Given the description of an element on the screen output the (x, y) to click on. 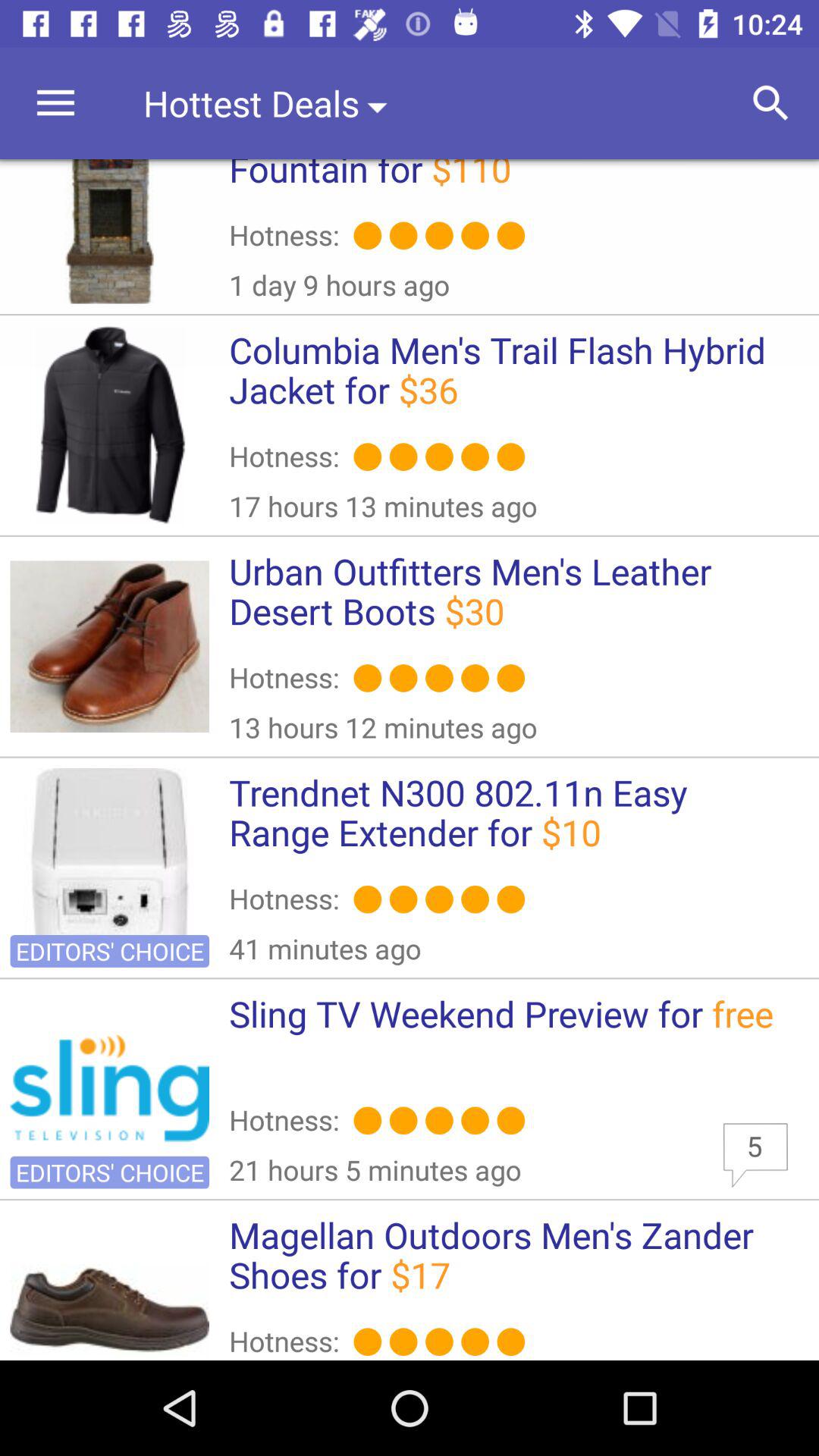
menu button (55, 103)
